Given the description of an element on the screen output the (x, y) to click on. 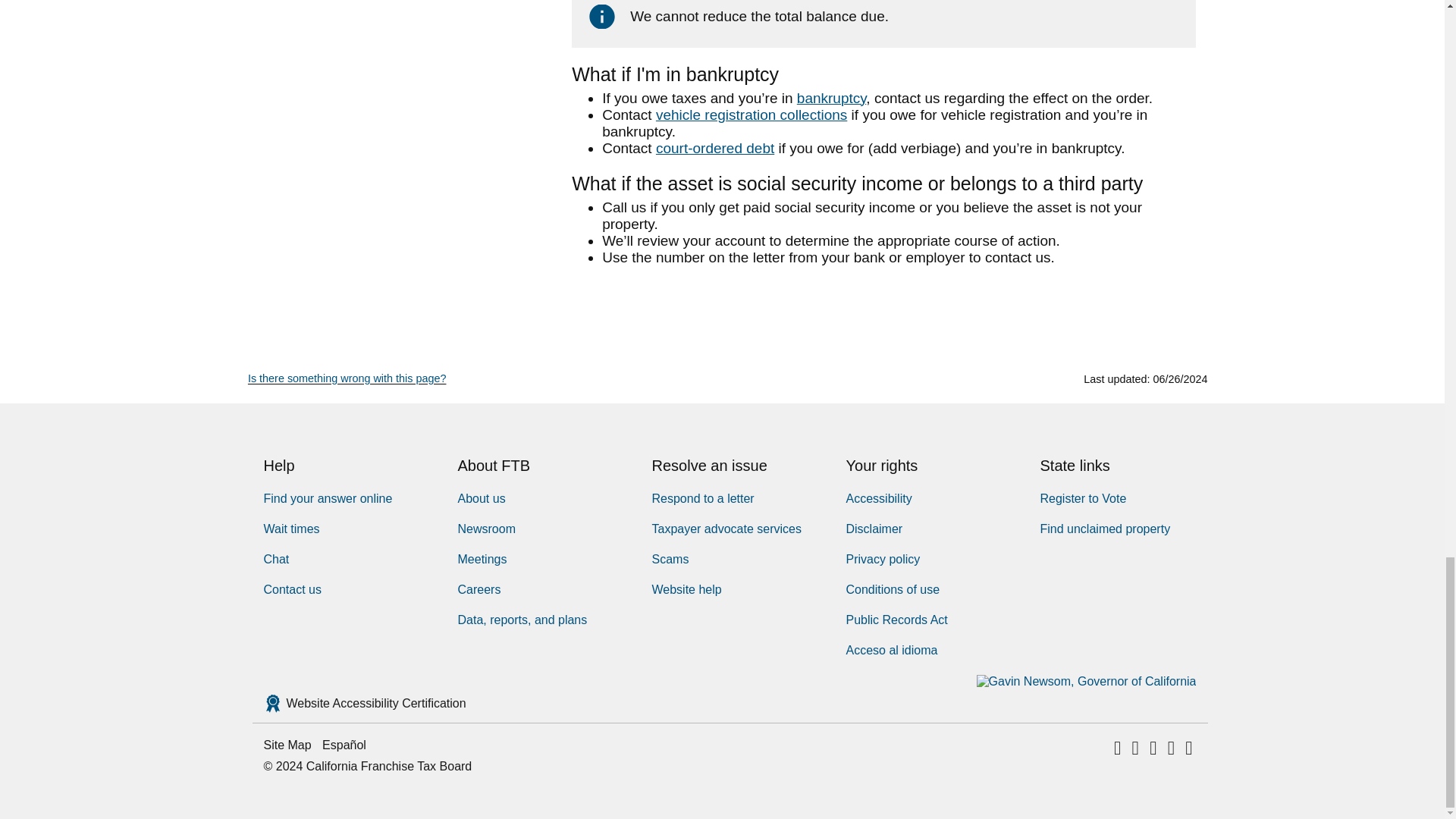
bankruptcy (831, 98)
court-ordered debt (715, 148)
vehicle registration collections (751, 114)
